Given the description of an element on the screen output the (x, y) to click on. 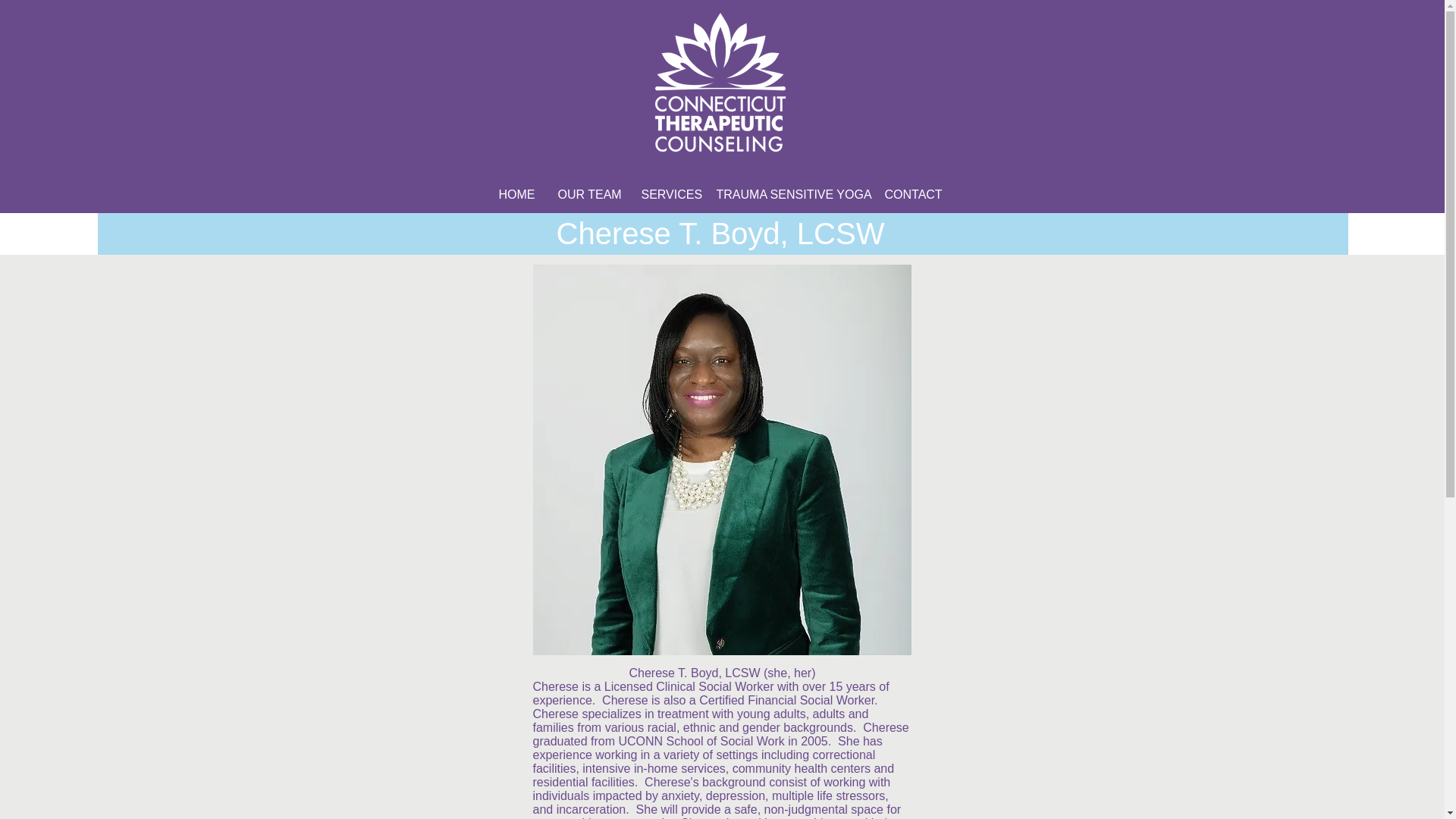
HOME (516, 194)
SERVICES (666, 194)
TRAUMA SENSITIVE YOGA (788, 194)
CONTACT (913, 194)
